Given the description of an element on the screen output the (x, y) to click on. 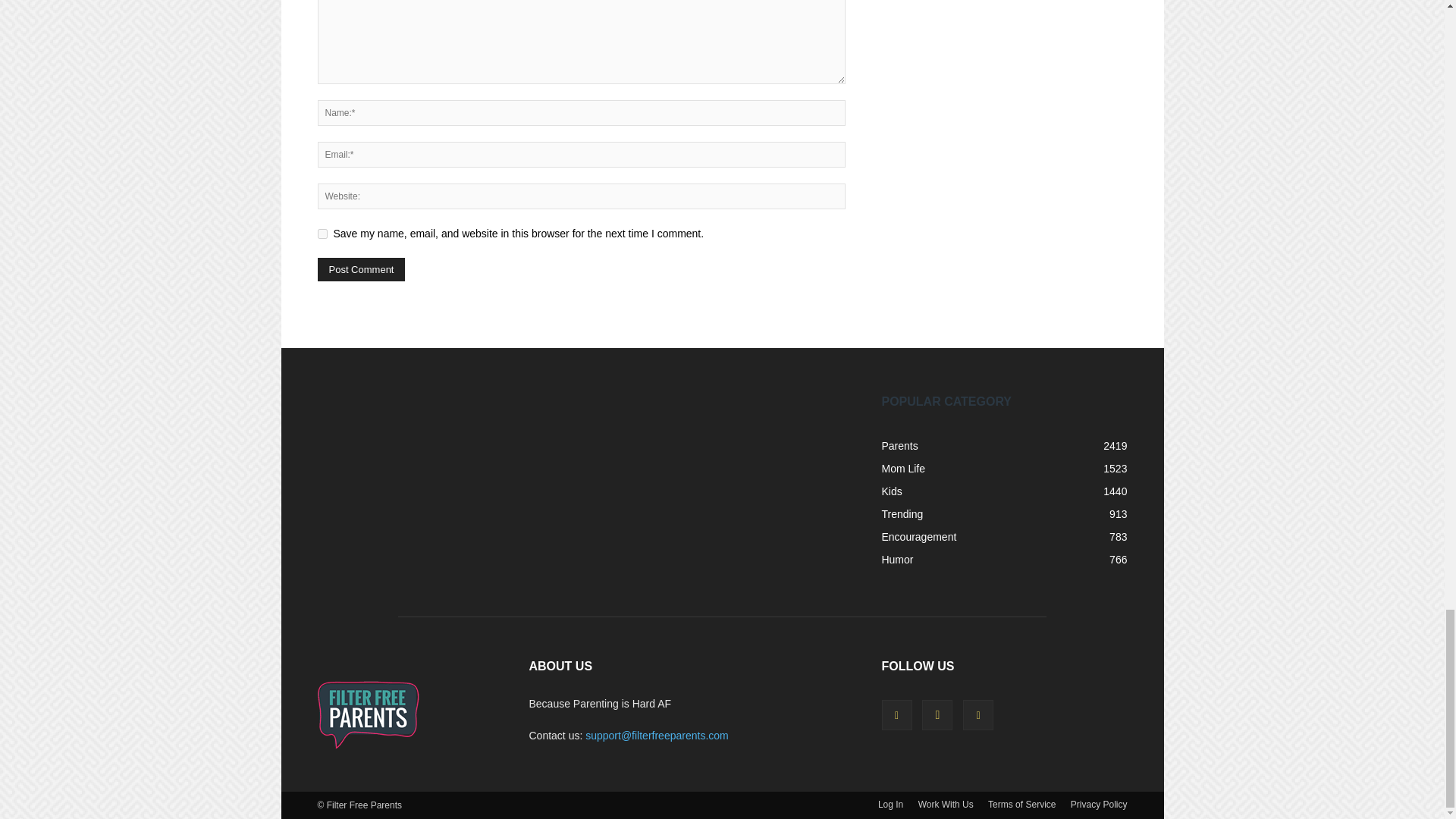
yes (321, 234)
Post Comment (360, 269)
